Given the description of an element on the screen output the (x, y) to click on. 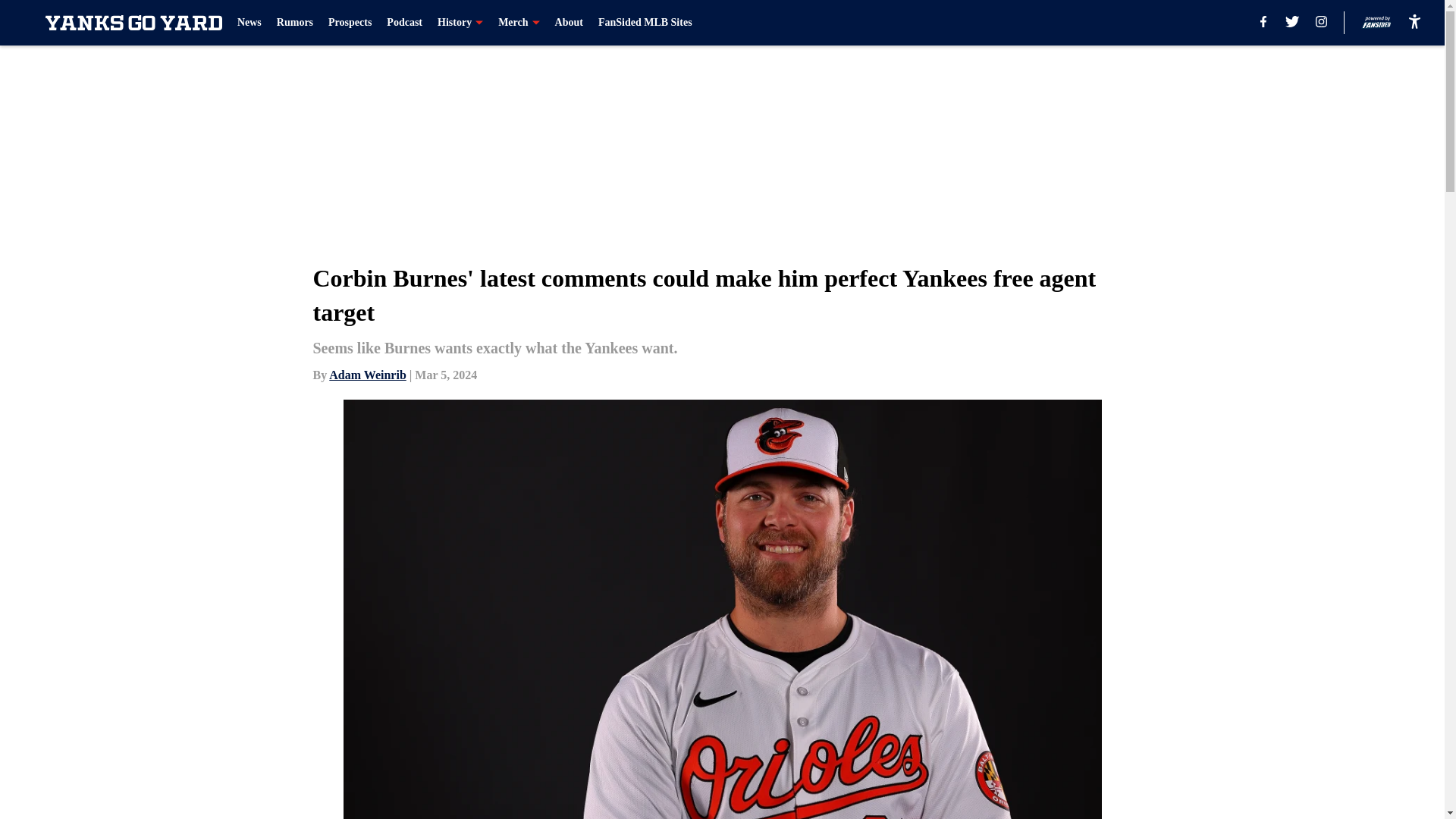
About (568, 22)
FanSided MLB Sites (645, 22)
News (249, 22)
Podcast (404, 22)
Prospects (350, 22)
Rumors (294, 22)
Adam Weinrib (367, 374)
